Given the description of an element on the screen output the (x, y) to click on. 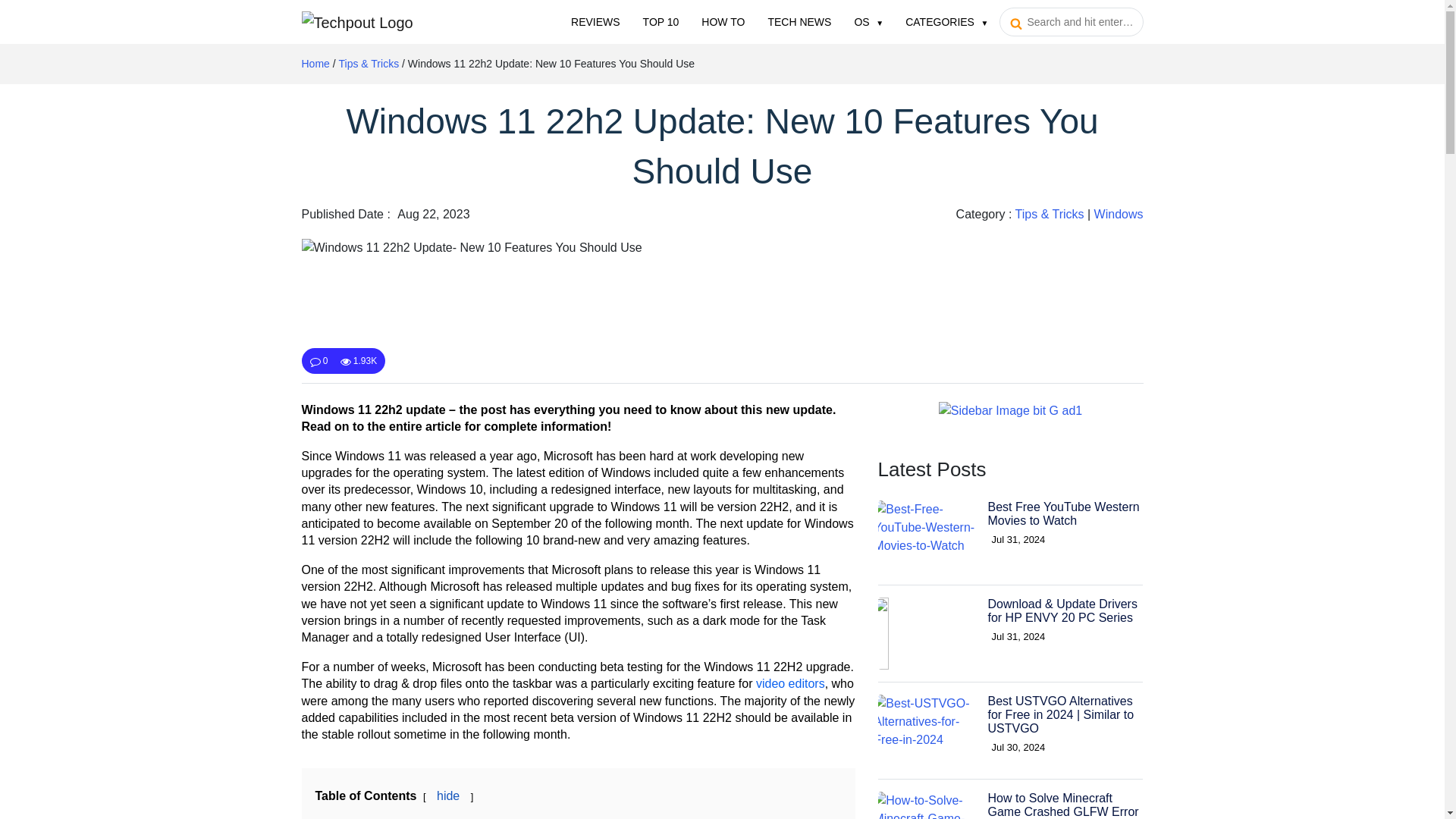
More Categories (946, 21)
TECH NEWS (799, 21)
TOP 10 (660, 21)
OS (867, 21)
Windows (1118, 214)
CATEGORIES (946, 21)
video editors (790, 683)
HOW TO (723, 21)
Home (315, 63)
Top 10 (660, 21)
hide (448, 795)
REVIEWS (595, 21)
How To (723, 21)
Search for: (1070, 21)
